Given the description of an element on the screen output the (x, y) to click on. 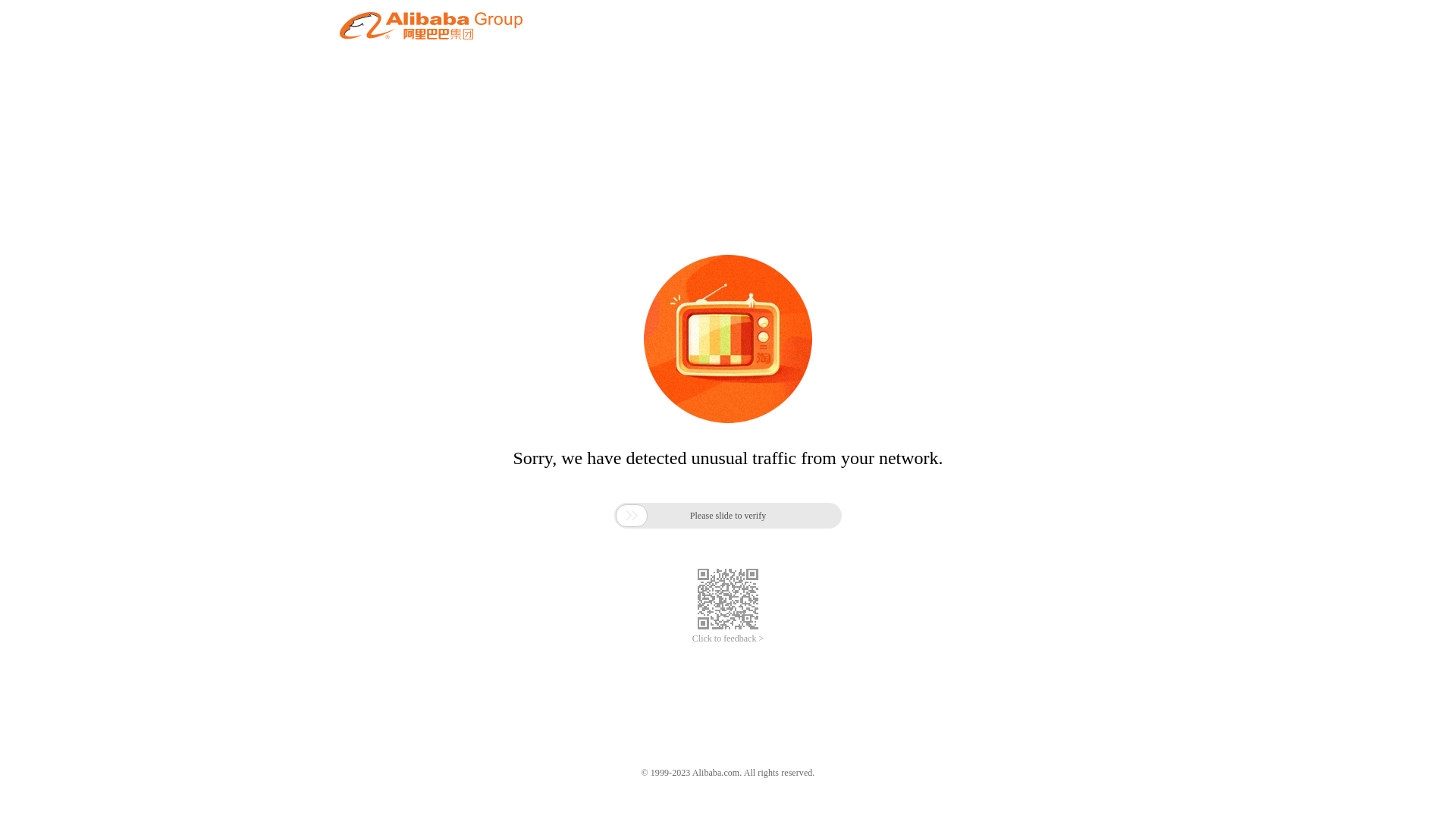
Click to feedback > Element type: text (727, 638)
